Given the description of an element on the screen output the (x, y) to click on. 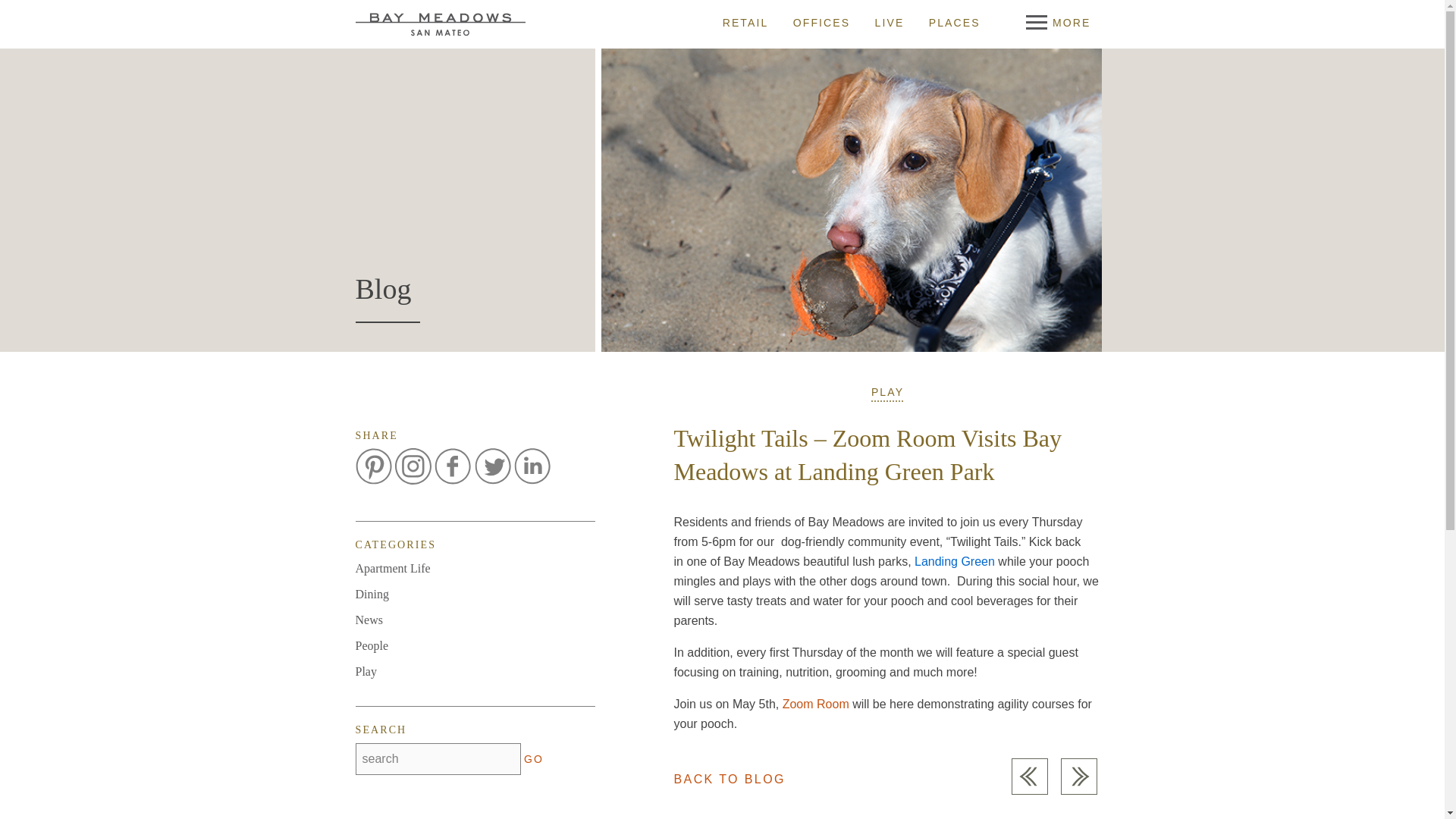
BACK TO BLOG (728, 779)
Dining (371, 593)
Previous: AndyZvisitsBayMeadowsatPaddockPark (1029, 776)
Bay Meadows (439, 24)
Blog (382, 288)
pinterest (373, 465)
Go (539, 758)
Zoom Room (815, 703)
MORE (1058, 22)
follow us on instagram (412, 465)
PLACES (953, 22)
Go (539, 758)
follow us on pinterest (373, 465)
Next: WhatsFreshattheCollegeofSanMateoFarmersMarket (1077, 776)
Go (539, 758)
